Given the description of an element on the screen output the (x, y) to click on. 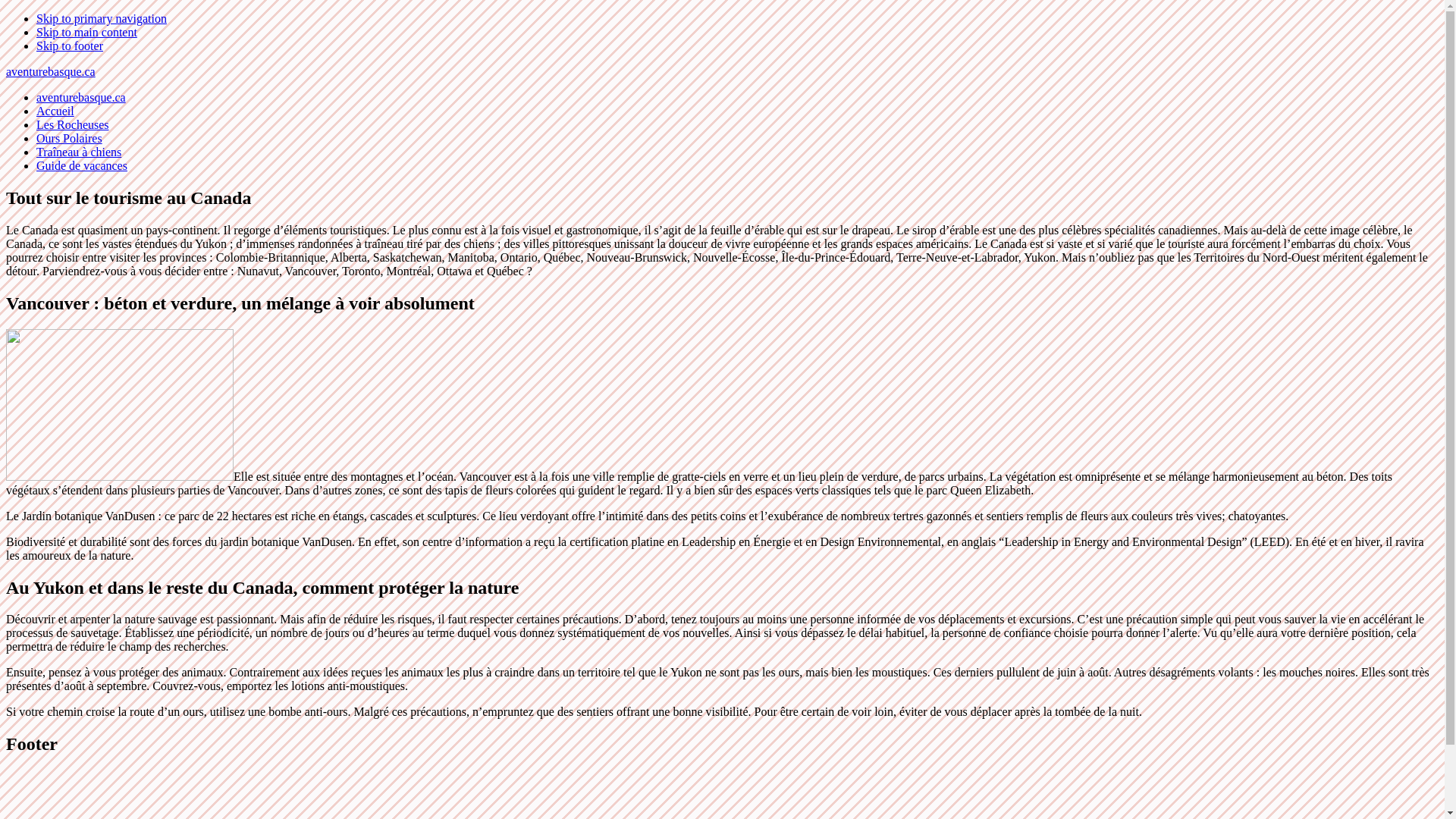
Guide de vacances Element type: text (81, 165)
Skip to main content Element type: text (86, 31)
Skip to footer Element type: text (69, 45)
Ours Polaires Element type: text (69, 137)
Accueil Element type: text (55, 110)
Skip to primary navigation Element type: text (101, 18)
aventurebasque.ca Element type: text (80, 97)
Les Rocheuses Element type: text (72, 124)
aventurebasque.ca Element type: text (50, 71)
